Given the description of an element on the screen output the (x, y) to click on. 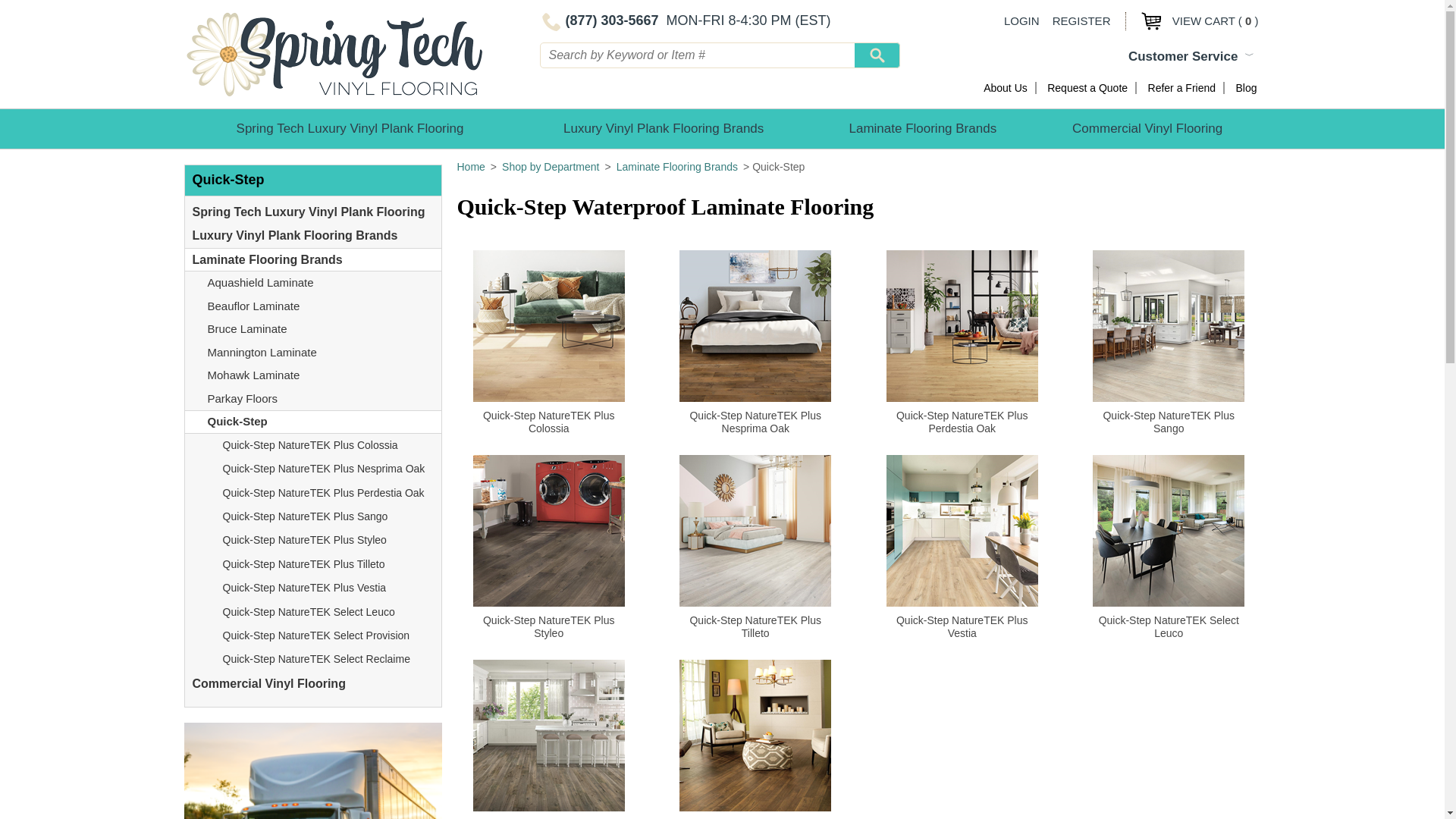
REGISTER (1081, 20)
Call Us! (599, 20)
Luxury Vinyl Plank Flooring Brands (663, 128)
About Us (1005, 87)
Laminate Flooring Brands (921, 128)
LOGIN (1021, 20)
Spring Tech Luxury Vinyl Plank Flooring (349, 128)
Request a Quote (1086, 87)
Blog (1245, 87)
Refer a Friend (1181, 87)
